Given the description of an element on the screen output the (x, y) to click on. 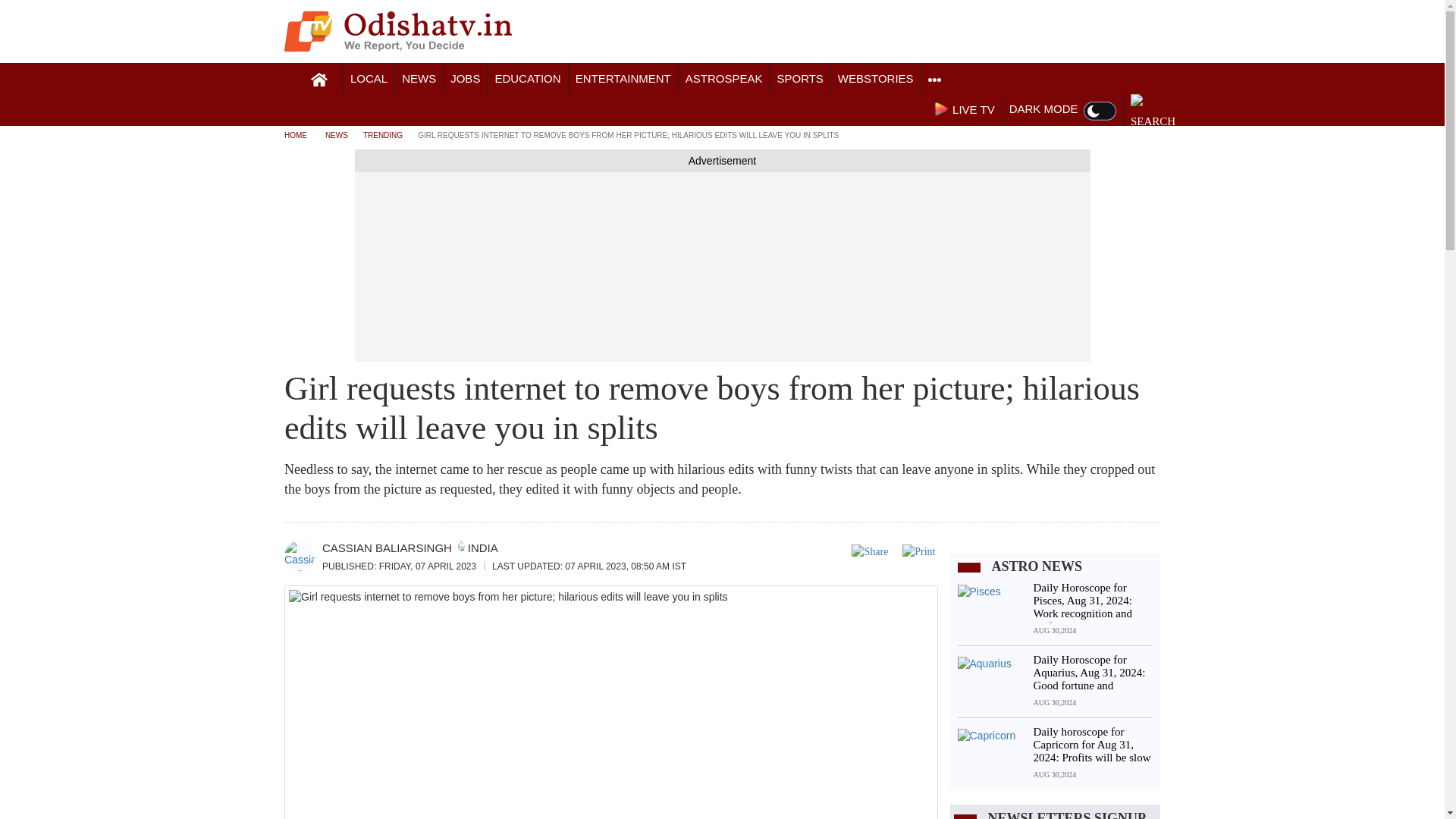
JOBS (465, 78)
ENTERTAINMENT (623, 78)
News (418, 78)
Telegram (1078, 33)
Koo (1097, 33)
Youtube (1117, 33)
LinkedIn (1058, 33)
Home Icon (319, 79)
NEWS (418, 78)
Instagram (1038, 33)
